Given the description of an element on the screen output the (x, y) to click on. 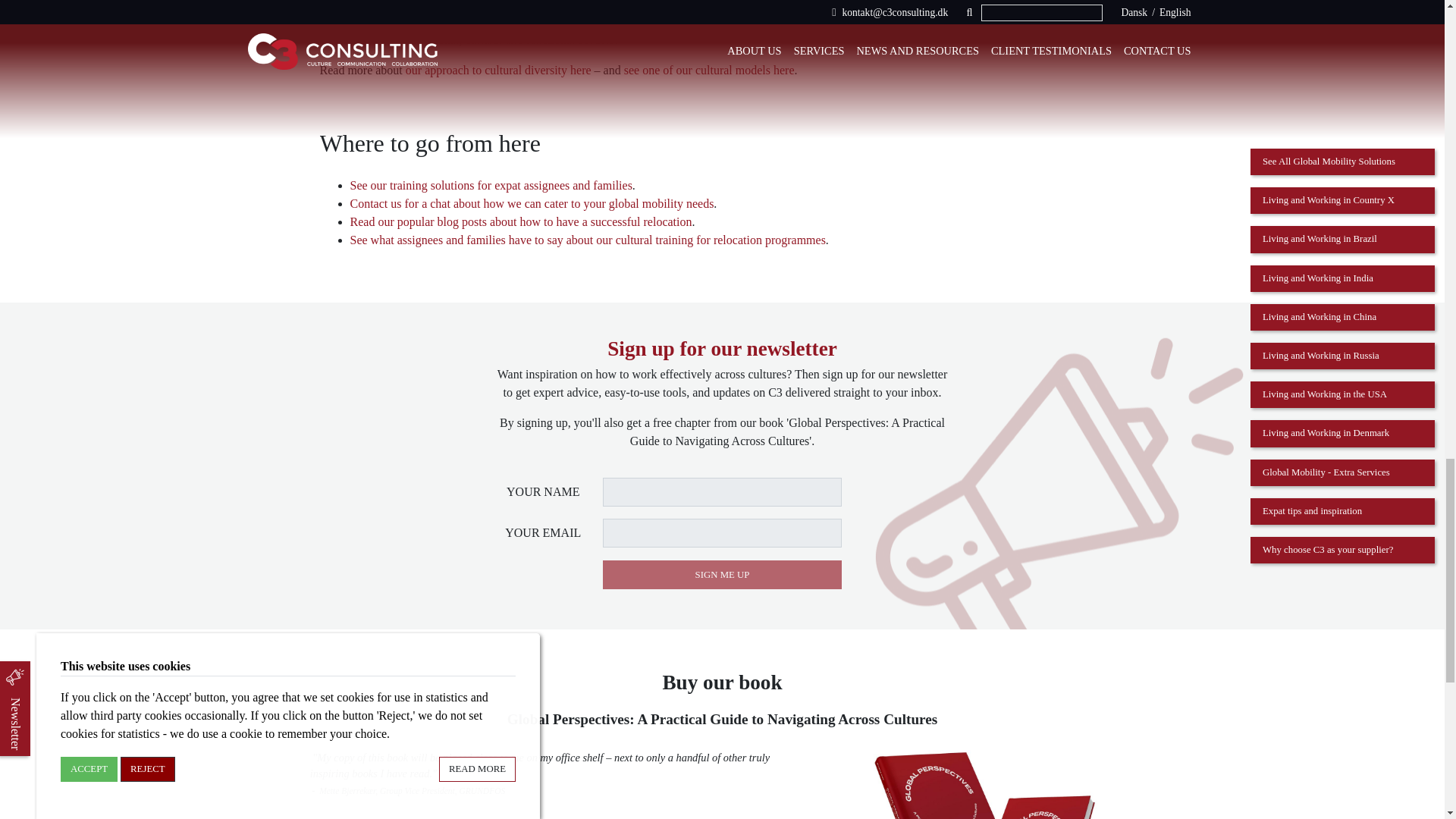
SIGN ME UP (721, 574)
